Given the description of an element on the screen output the (x, y) to click on. 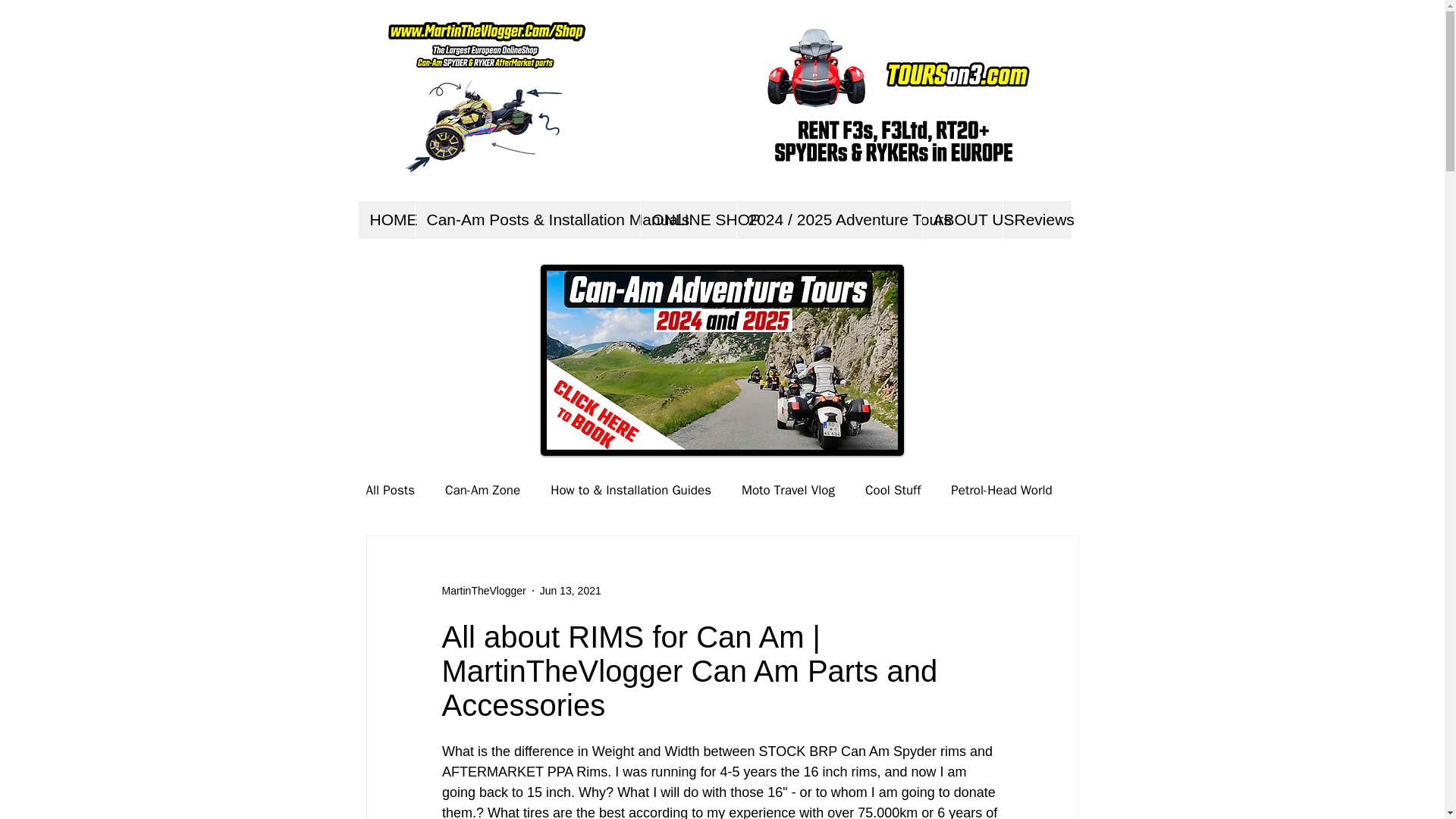
Jun 13, 2021 (570, 589)
ABOUT US (960, 219)
Reviews (1037, 219)
MartinTheVlogger (483, 590)
 MartinTheVlogger (483, 590)
All Posts (389, 488)
HOME (385, 219)
Moto Travel Vlog (787, 488)
Can-Am Zone (482, 488)
Cool Stuff (892, 488)
